Given the description of an element on the screen output the (x, y) to click on. 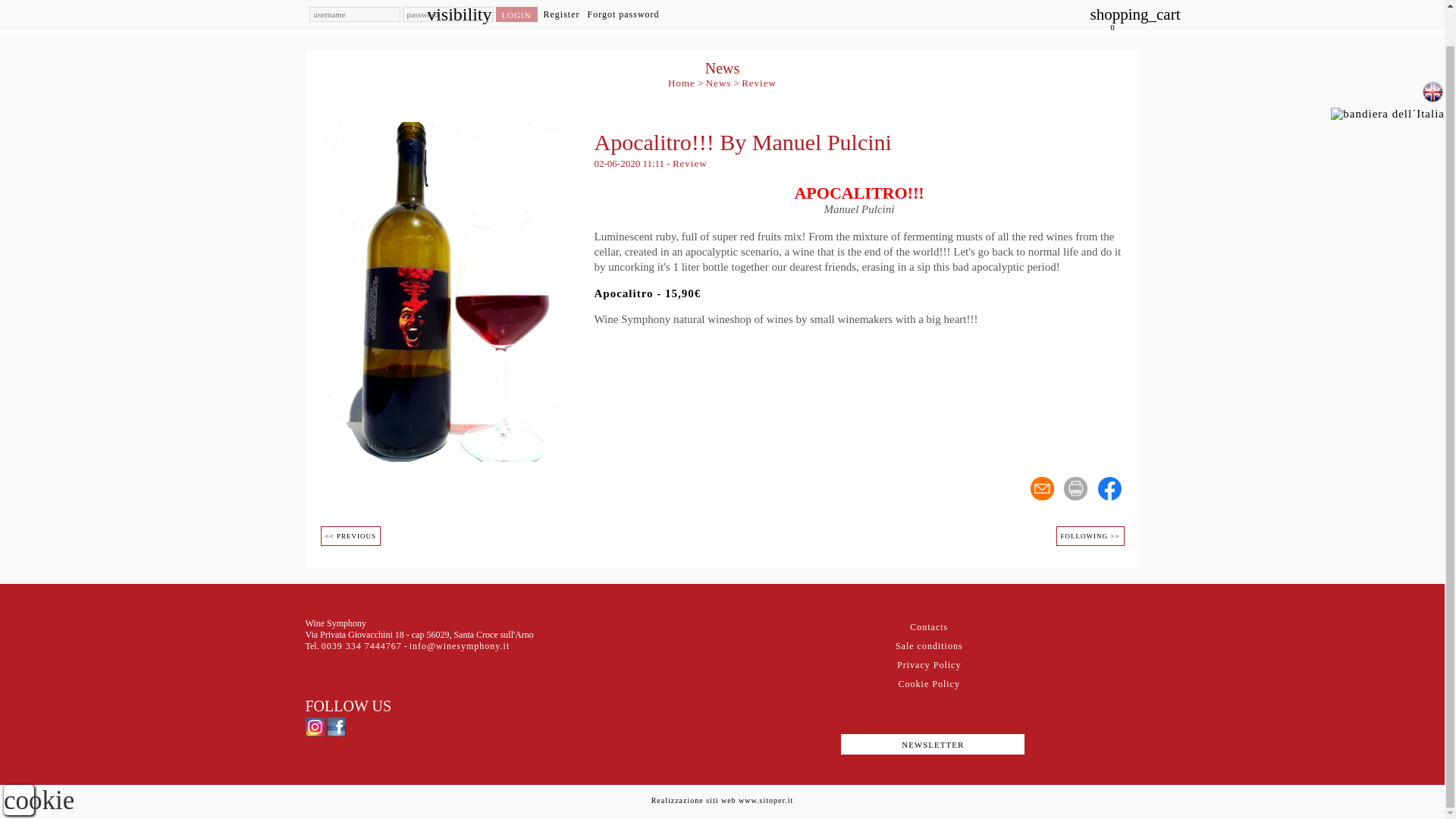
Contacts (928, 627)
Winemakers (724, 2)
back to Review (758, 82)
0039 334 7444767 (361, 645)
News (719, 82)
BLOG (890, 2)
CONTACTS (1055, 2)
Sale conditions (928, 645)
Cookie Policy (928, 684)
NEWSLETTER (932, 744)
WINEMAKERS (724, 2)
Realizzazione siti web www.sitoper.it (721, 800)
back to Home (681, 82)
zoom (447, 290)
Blog (890, 2)
